Given the description of an element on the screen output the (x, y) to click on. 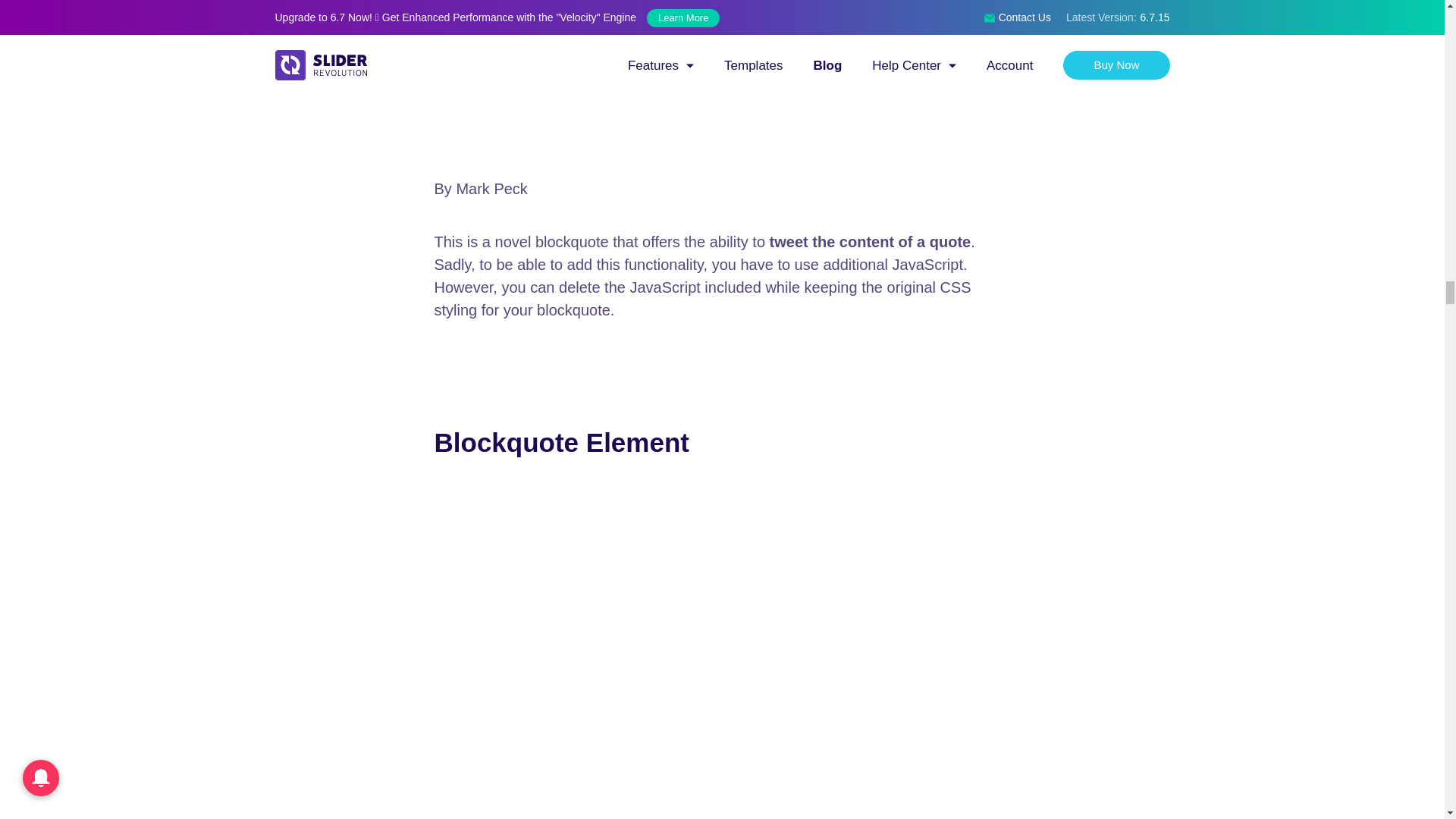
CodePen Embed DvqReW (721, 78)
